Given the description of an element on the screen output the (x, y) to click on. 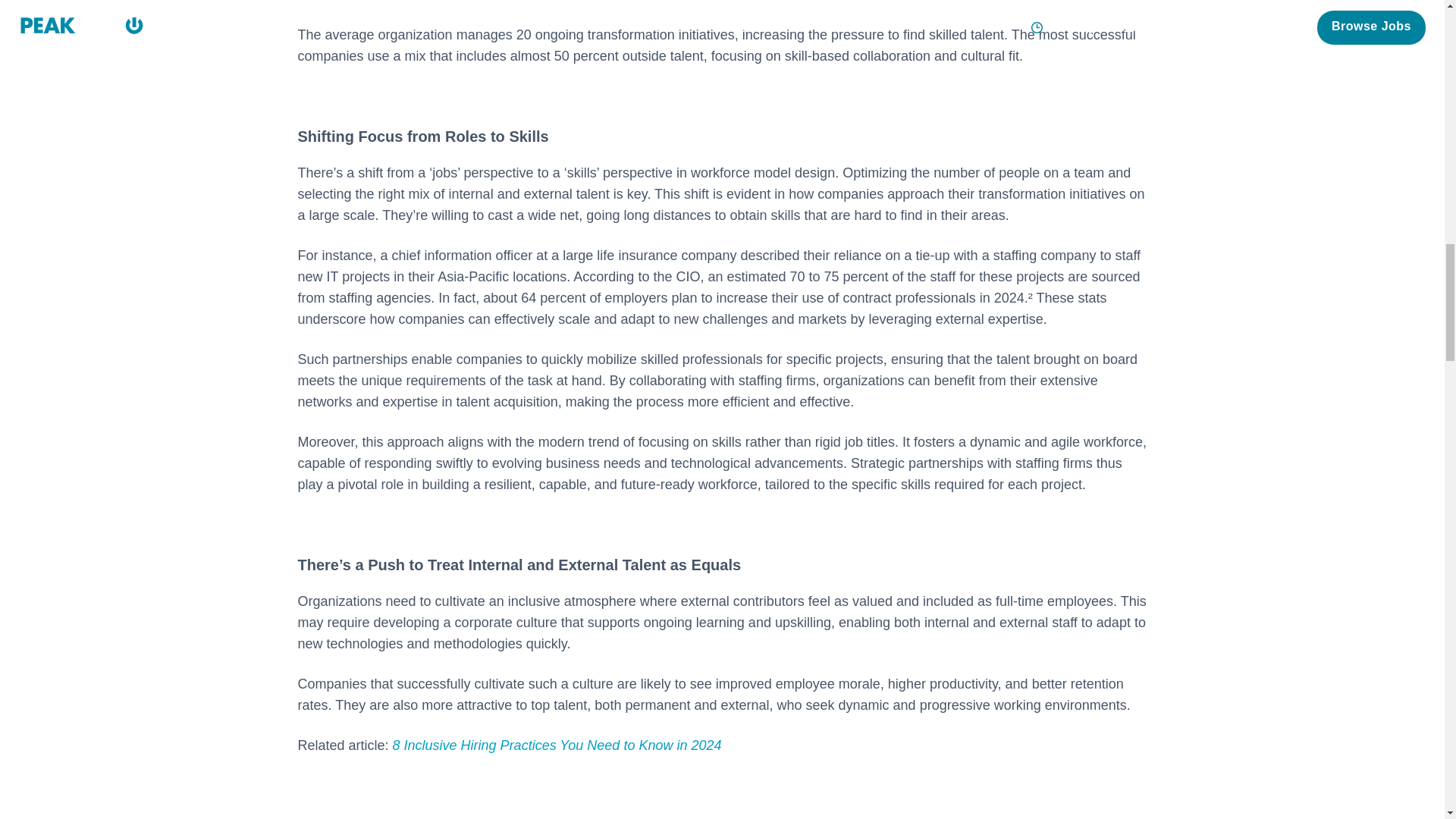
8 Inclusive Hiring Practices You Need to Know in 2024 (557, 744)
